Given the description of an element on the screen output the (x, y) to click on. 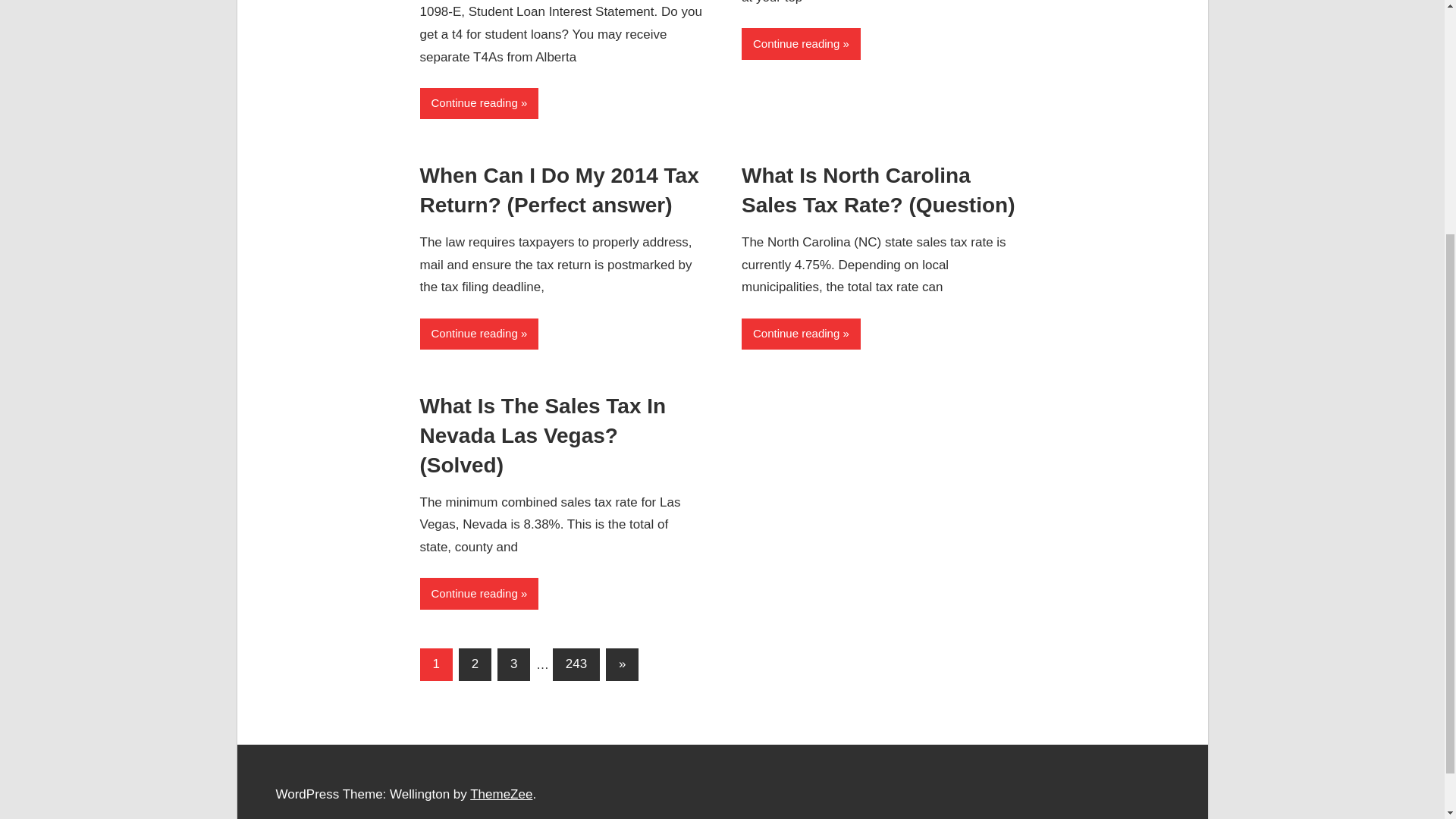
Continue reading (479, 102)
3 (513, 664)
Continue reading (479, 333)
ThemeZee (501, 794)
2 (475, 664)
Continue reading (800, 333)
Continue reading (479, 593)
Continue reading (800, 42)
243 (576, 664)
